Given the description of an element on the screen output the (x, y) to click on. 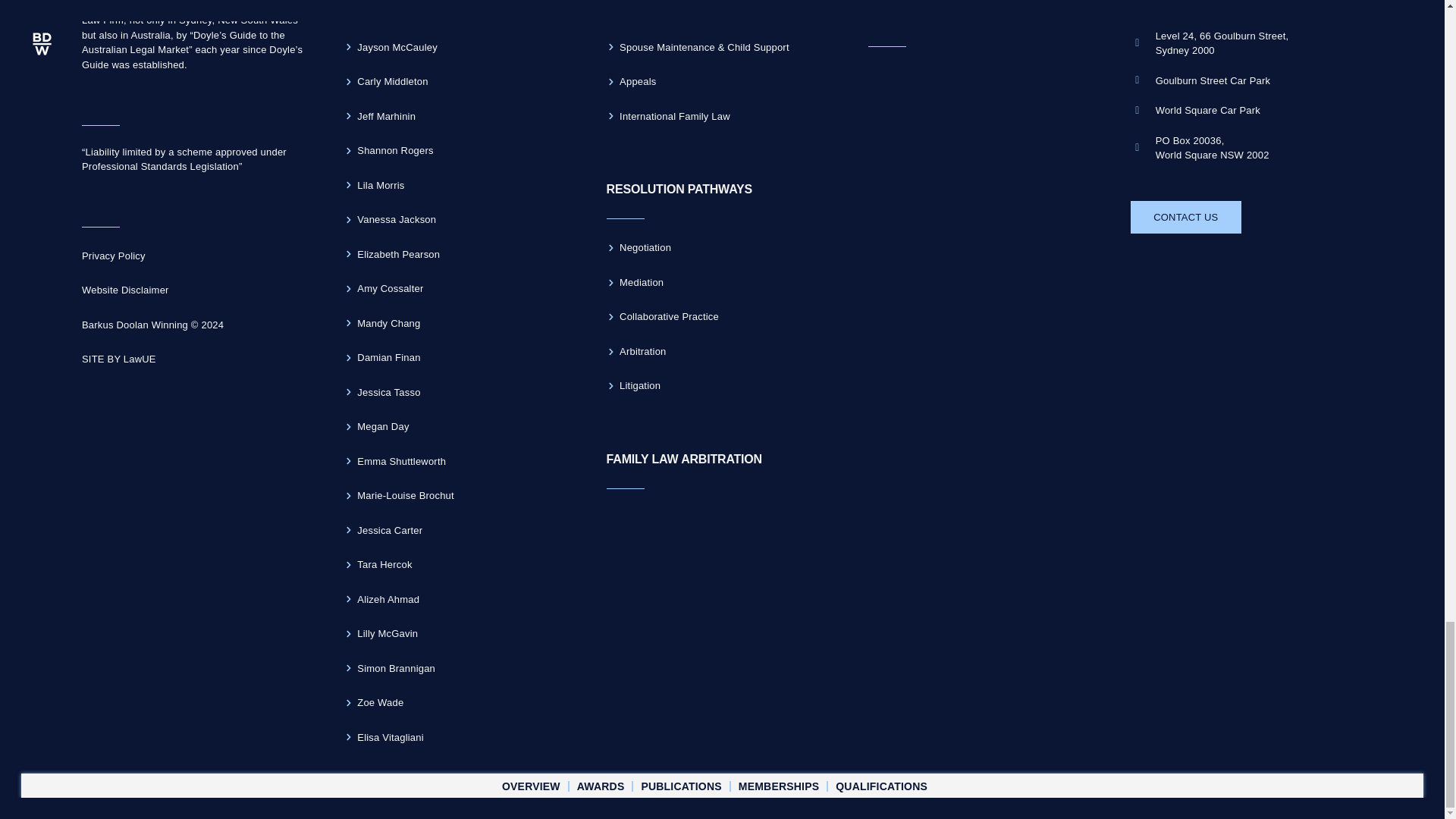
Carly Middleton (459, 81)
Shannon Rogers (459, 150)
Jayson McCauley (459, 47)
Lila Morris (459, 185)
Vanessa Jackson (459, 219)
Privacy Policy (197, 256)
Mandy Chang (459, 323)
Elizabeth Pearson (459, 254)
Amy Cossalter (459, 288)
Jeff Marhinin (459, 116)
Website Disclaimer (197, 290)
Melinda Winning (459, 12)
SITE BY LawUE (197, 359)
